Given the description of an element on the screen output the (x, y) to click on. 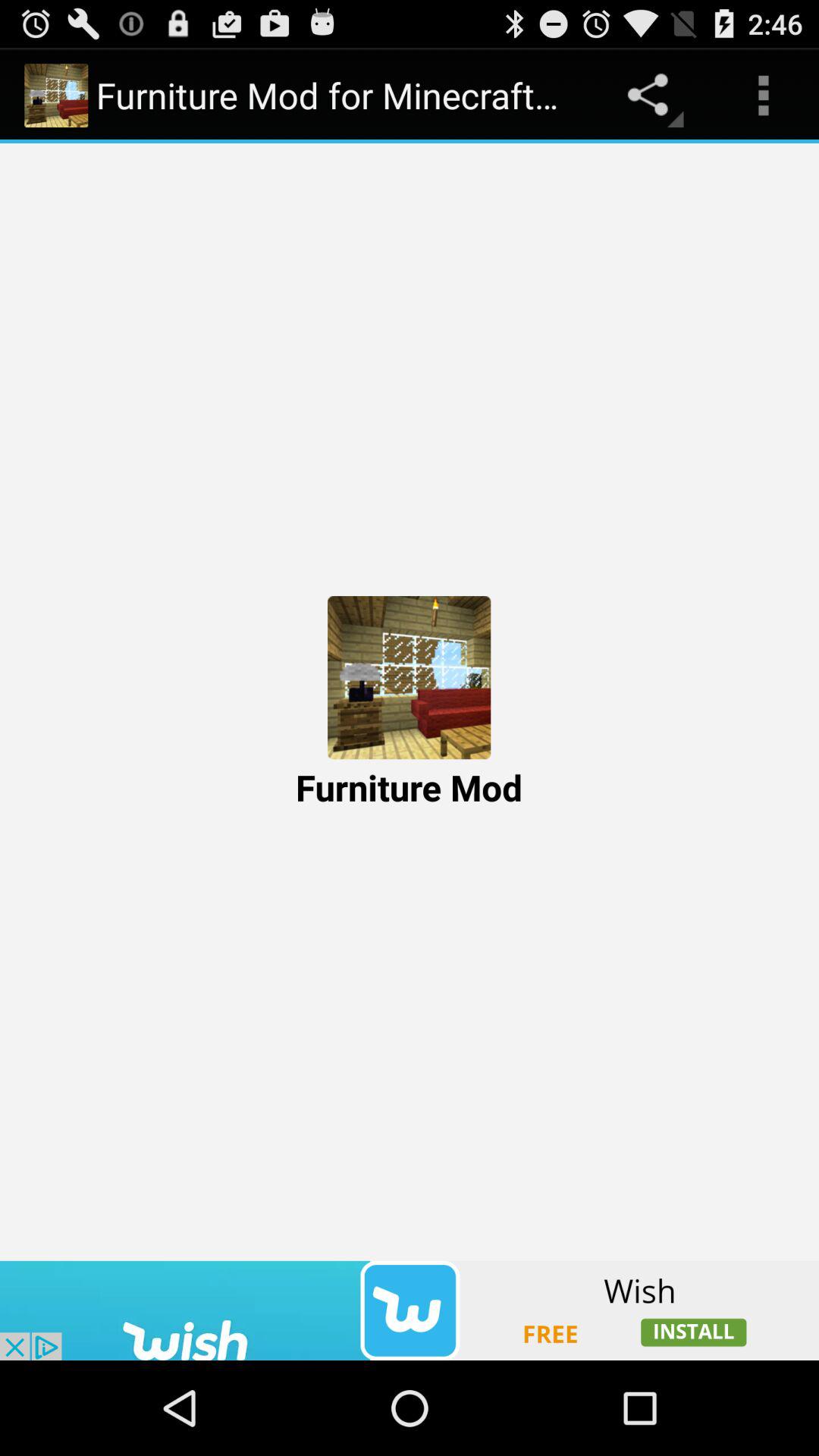
open advertisement (409, 1310)
